Given the description of an element on the screen output the (x, y) to click on. 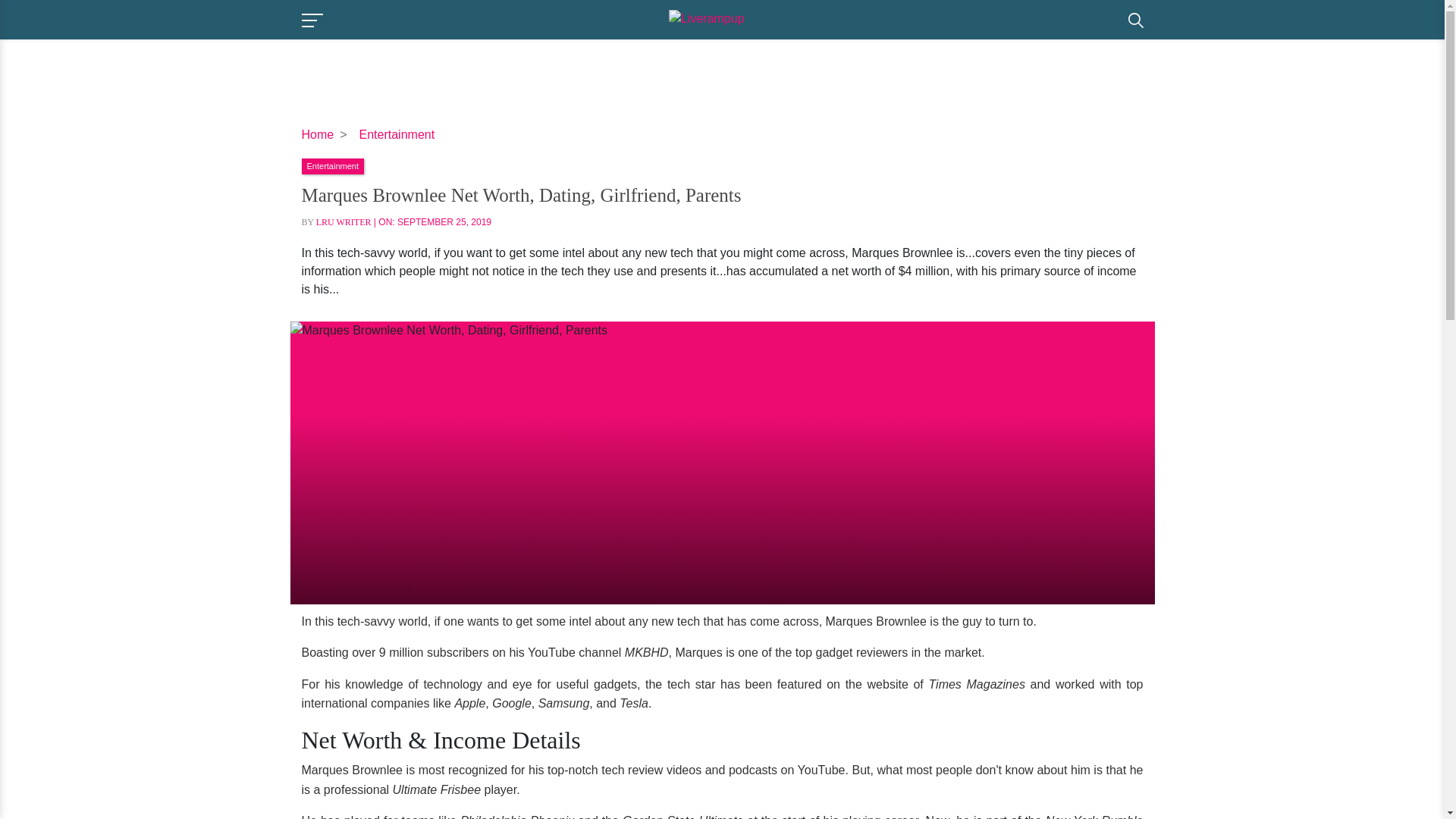
Entertainment (397, 133)
Home (317, 133)
LRU WRITER (343, 222)
Entertainment (332, 164)
Liverampup (725, 17)
